Given the description of an element on the screen output the (x, y) to click on. 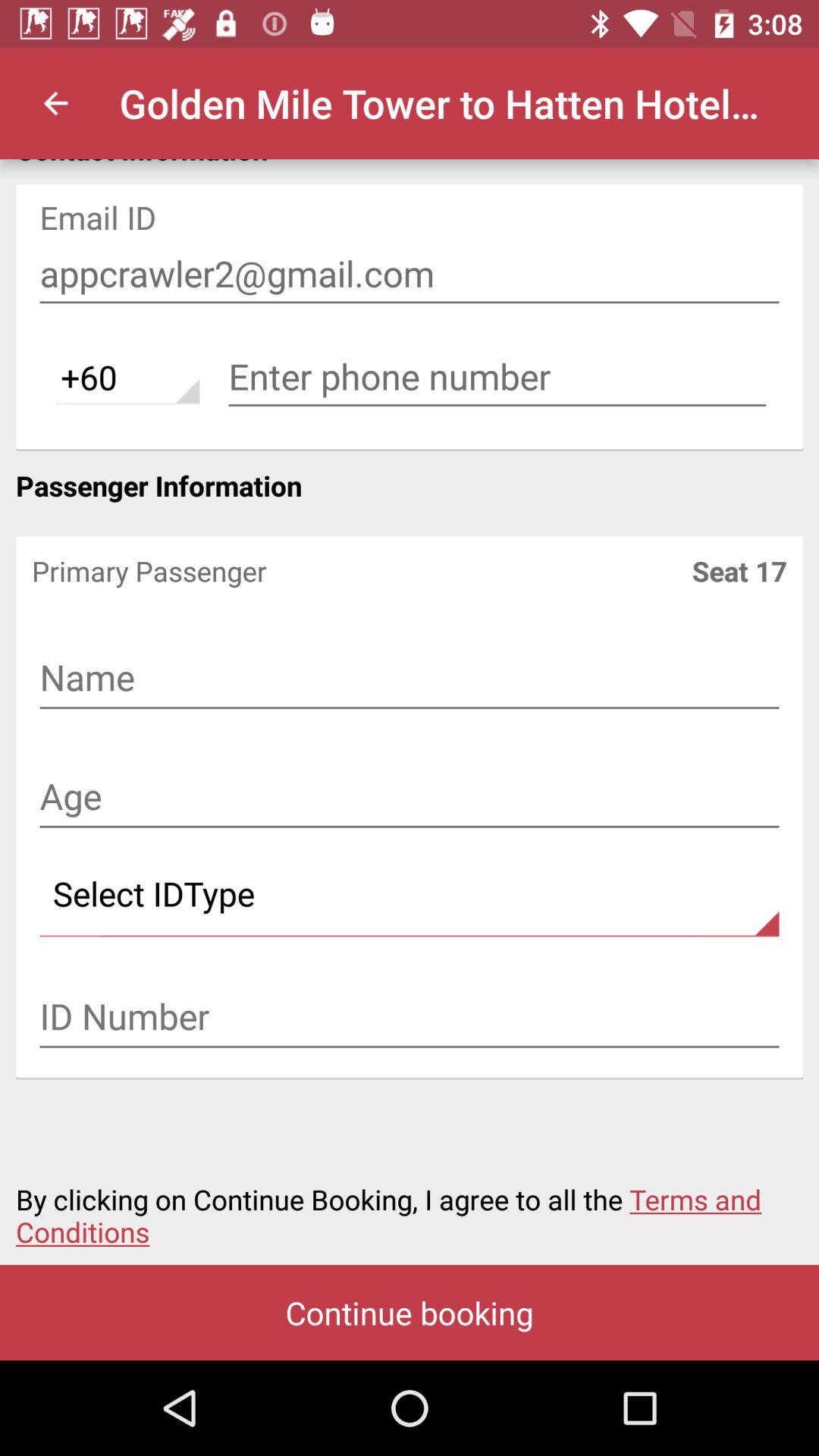
turn off icon next to golden mile tower icon (55, 103)
